Given the description of an element on the screen output the (x, y) to click on. 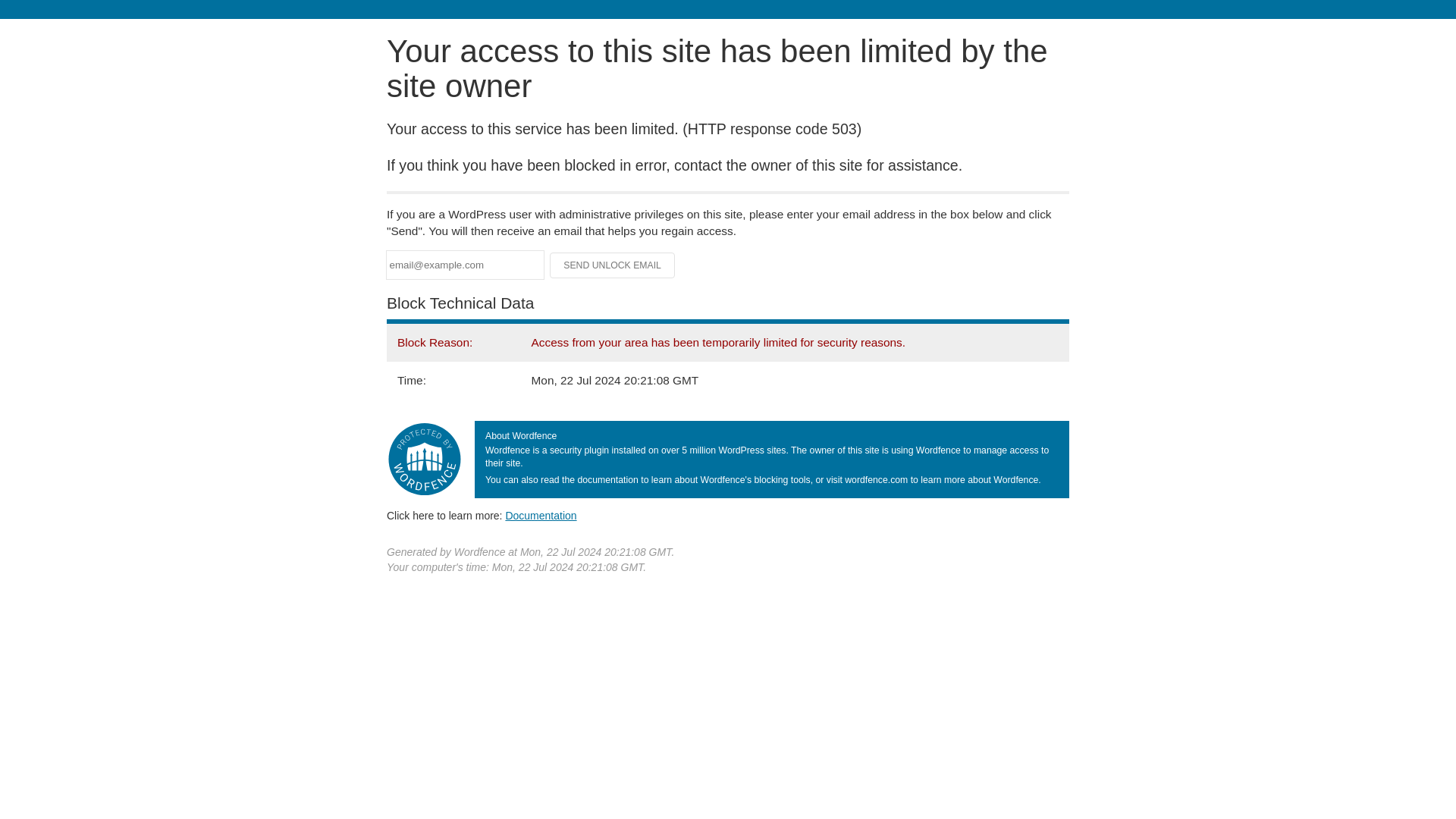
Documentation (540, 515)
Send Unlock Email (612, 265)
Send Unlock Email (612, 265)
